Given the description of an element on the screen output the (x, y) to click on. 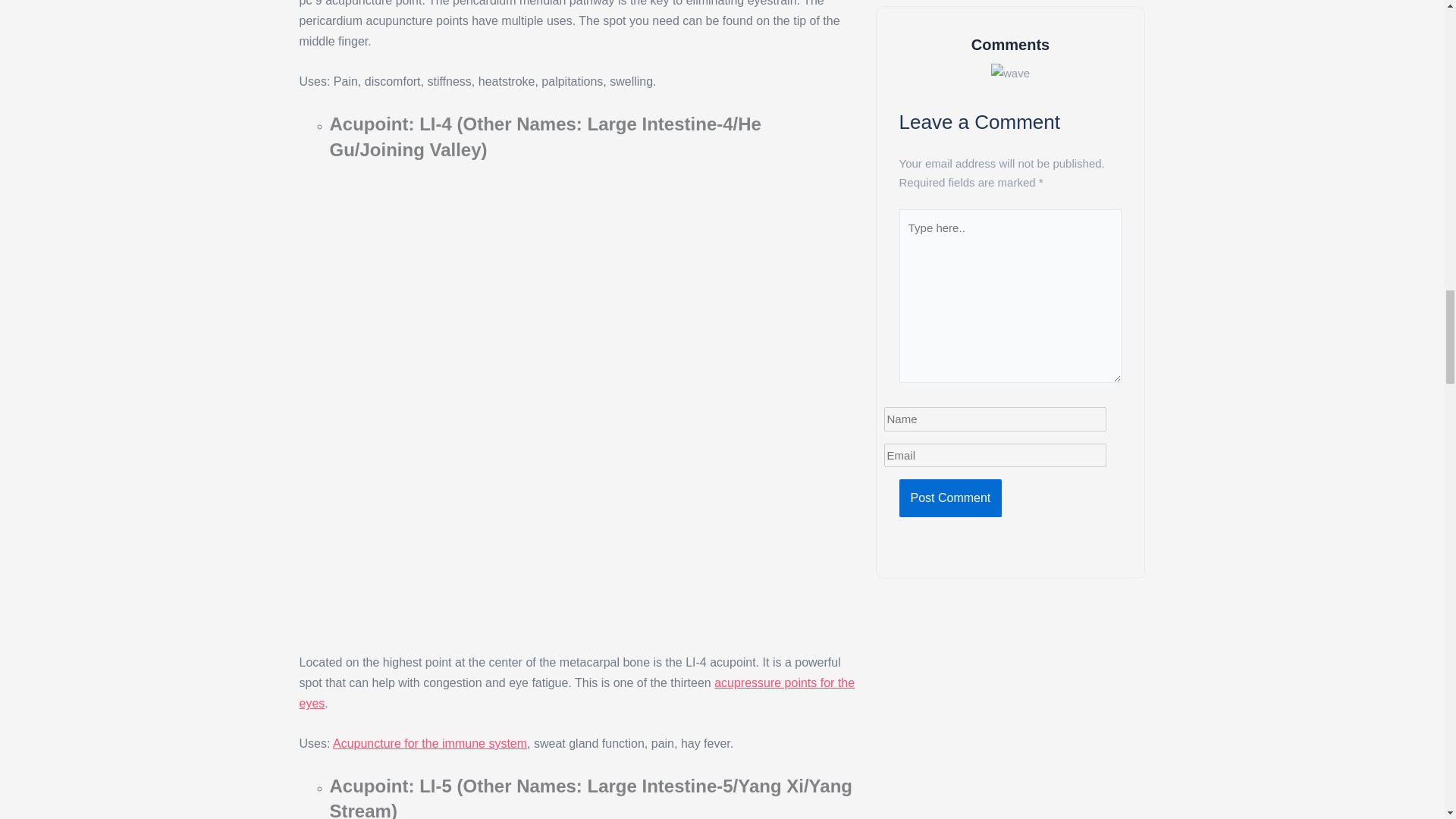
Post Comment (951, 497)
